Given the description of an element on the screen output the (x, y) to click on. 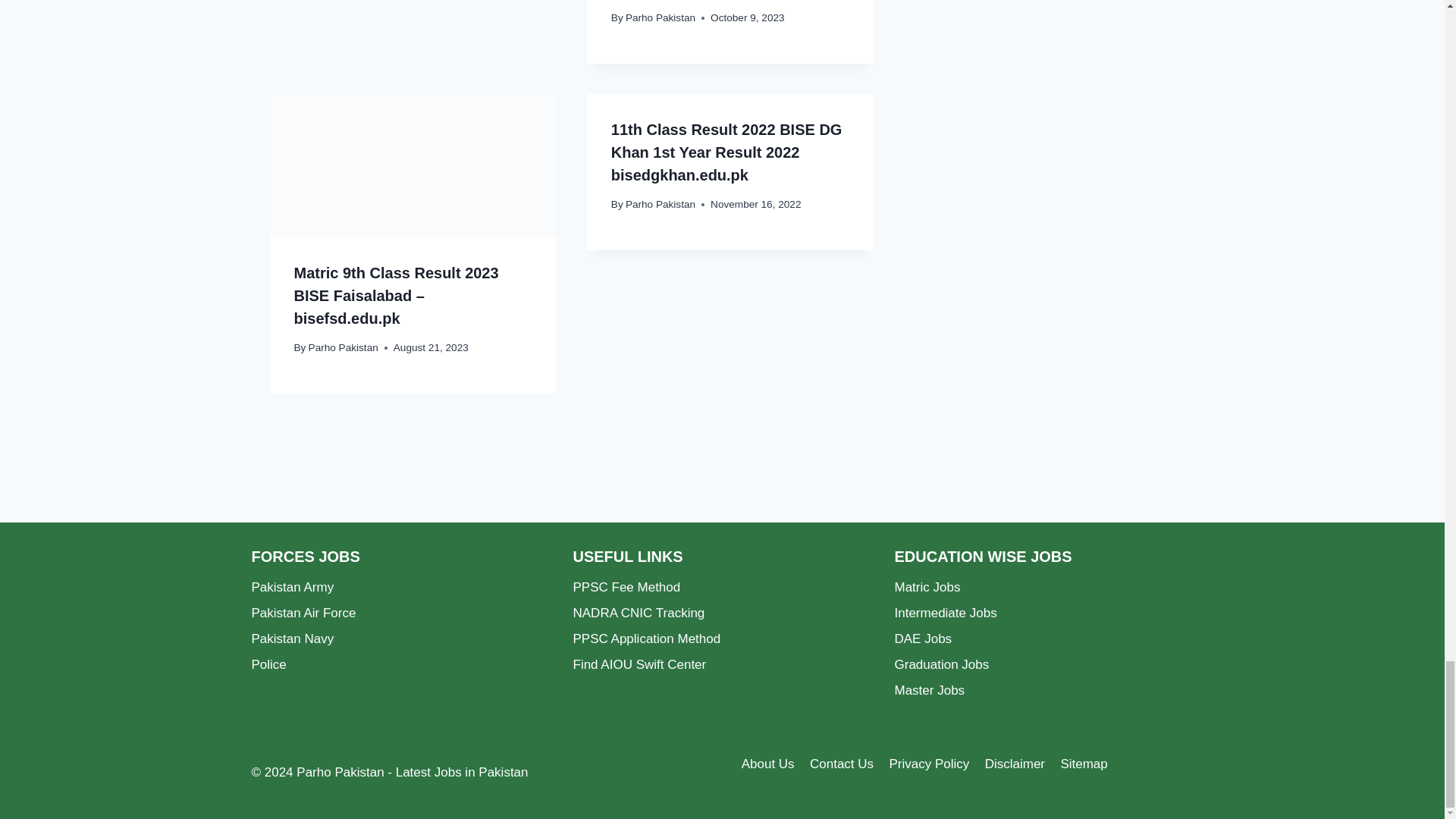
Parho Pakistan (660, 17)
